Given the description of an element on the screen output the (x, y) to click on. 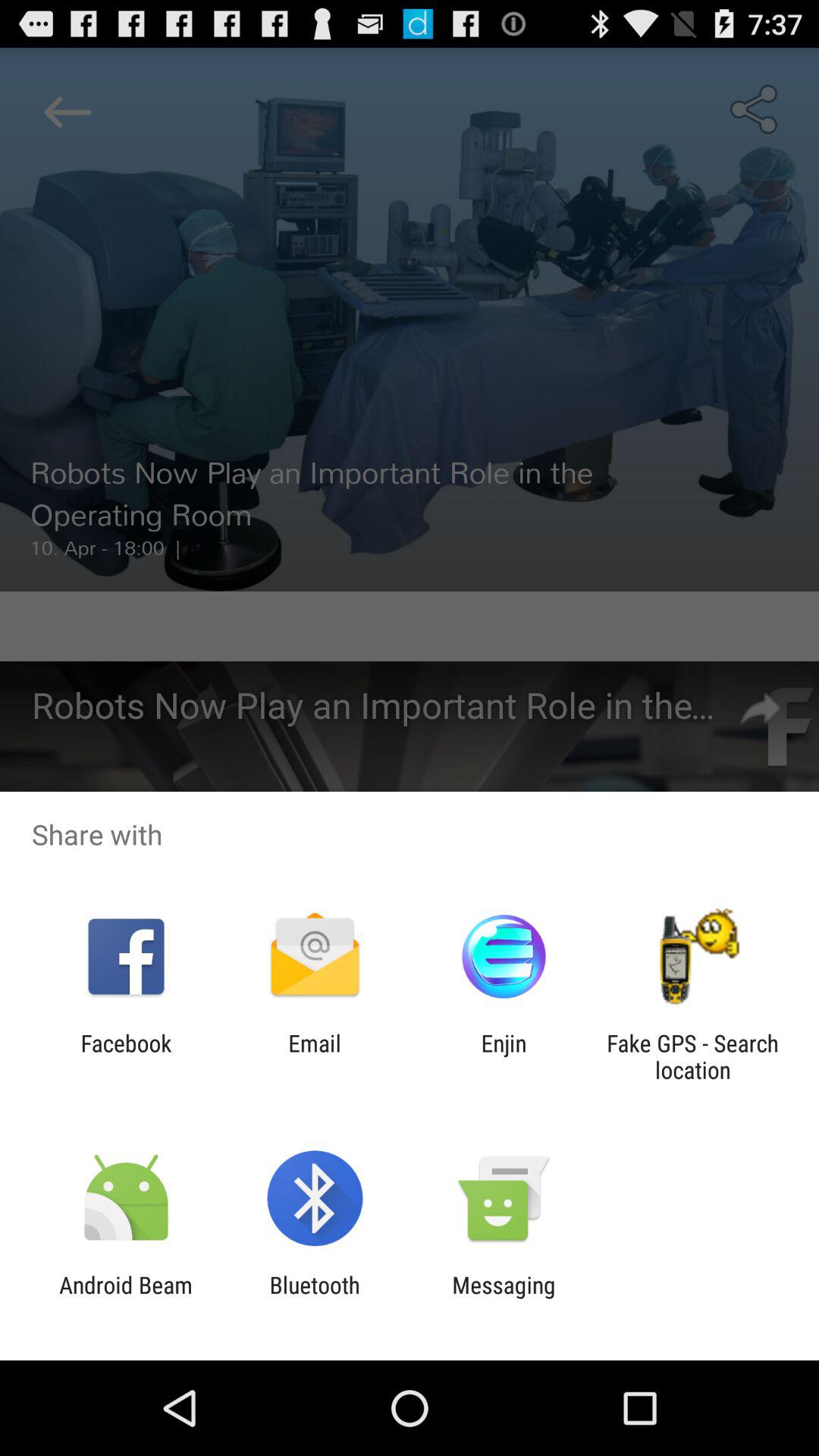
swipe until the fake gps search item (692, 1056)
